Given the description of an element on the screen output the (x, y) to click on. 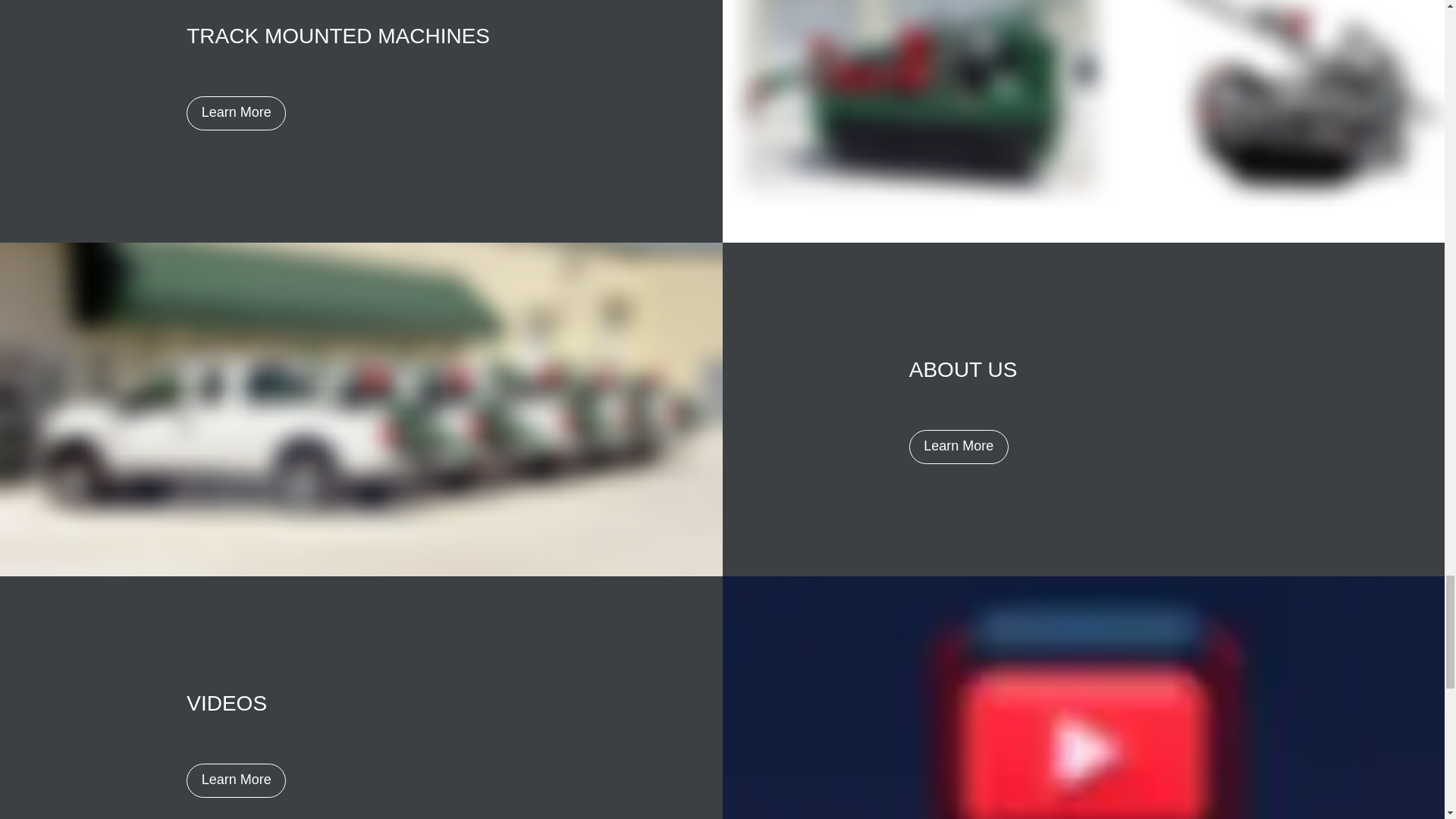
Learn More (235, 779)
Learn More (958, 446)
Learn More (235, 112)
TRACK MOUNTED MACHINES (337, 35)
ABOUT US (962, 369)
